Given the description of an element on the screen output the (x, y) to click on. 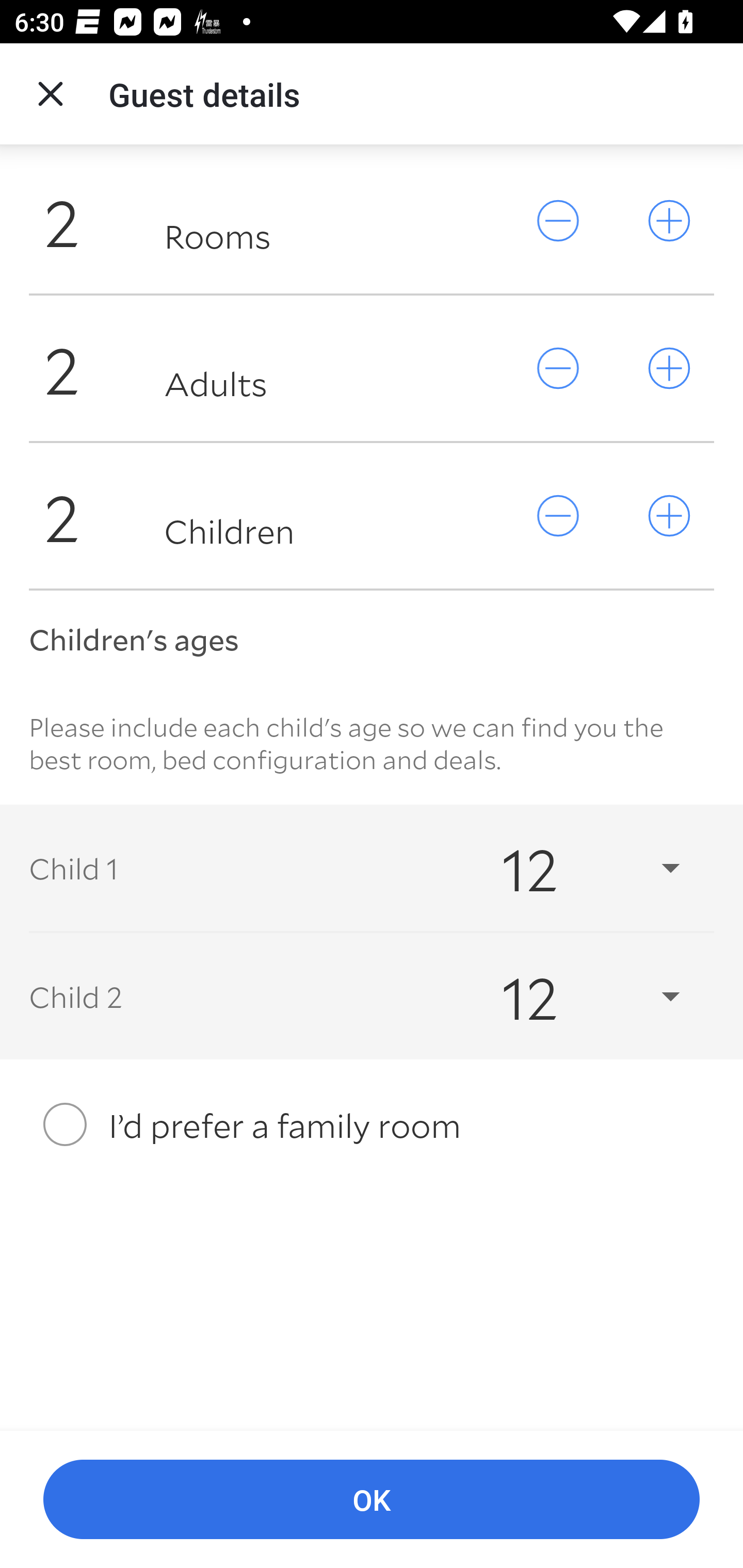
12 (573, 867)
12 (573, 996)
I’d prefer a family room (371, 1124)
OK (371, 1499)
